Given the description of an element on the screen output the (x, y) to click on. 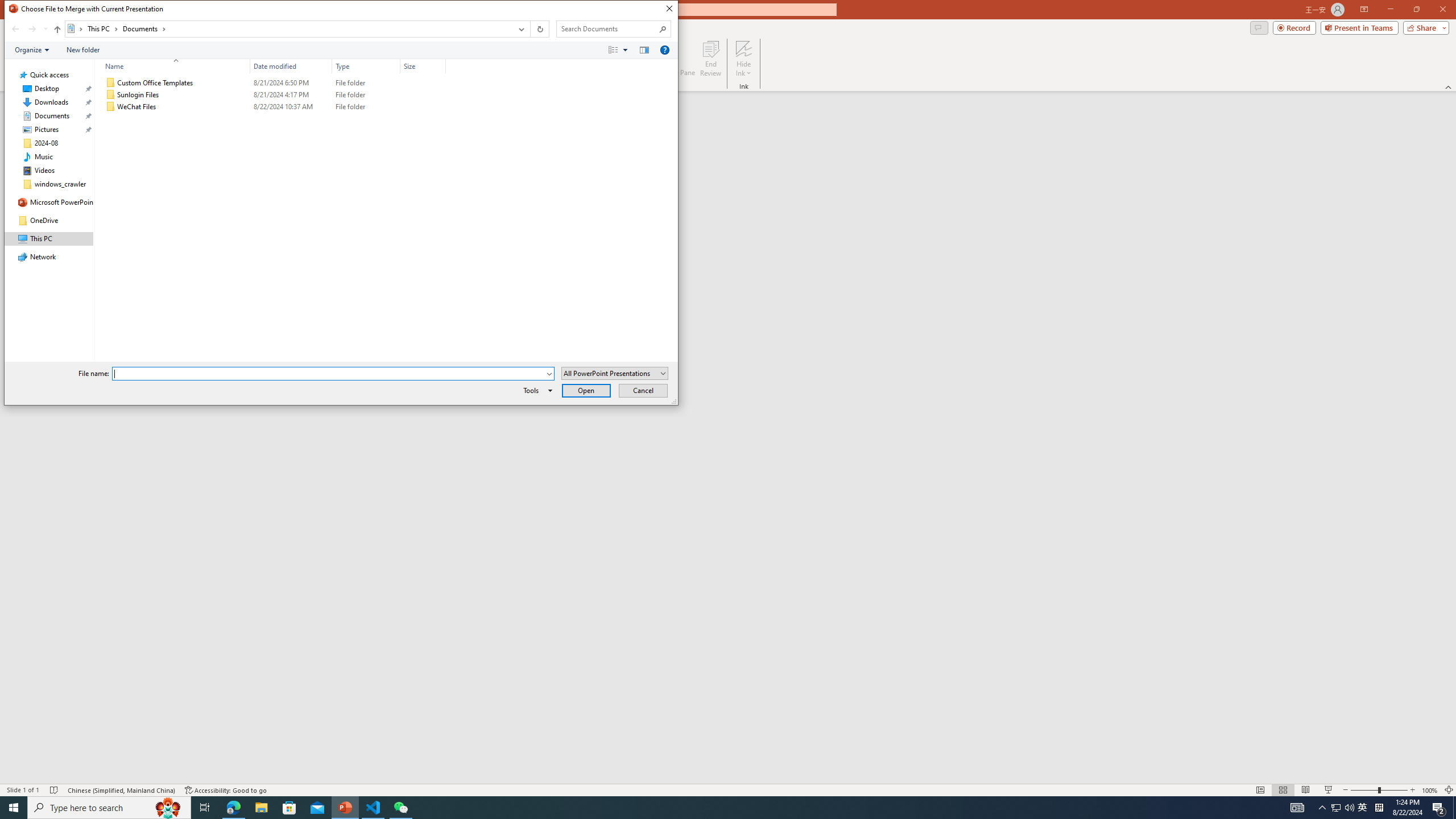
All locations (75, 28)
Previous Locations (520, 28)
Address band toolbar (529, 28)
Zoom 100% (1430, 790)
Sunlogin Files (273, 94)
